Given the description of an element on the screen output the (x, y) to click on. 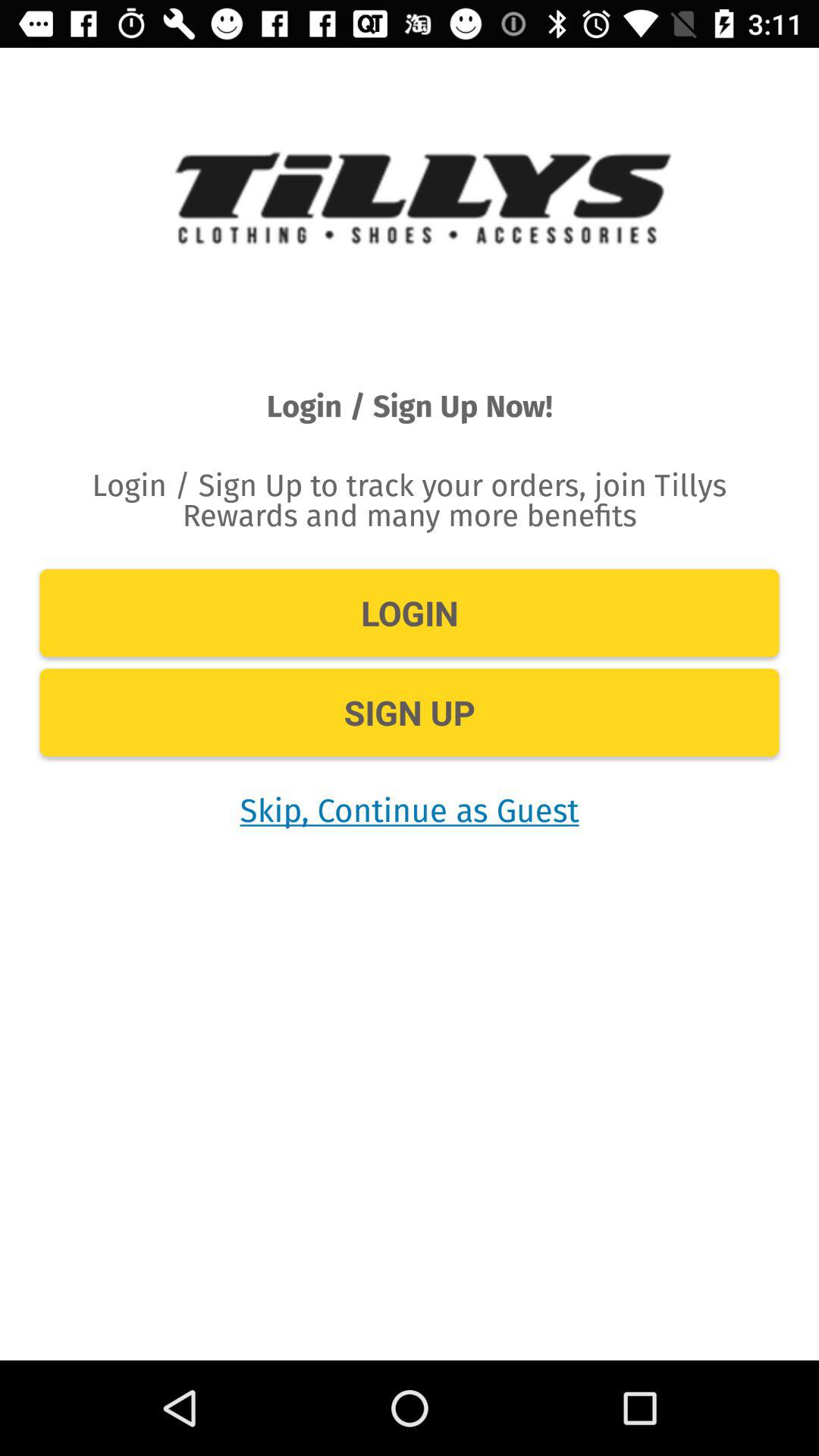
click the skip continue as icon (409, 809)
